Given the description of an element on the screen output the (x, y) to click on. 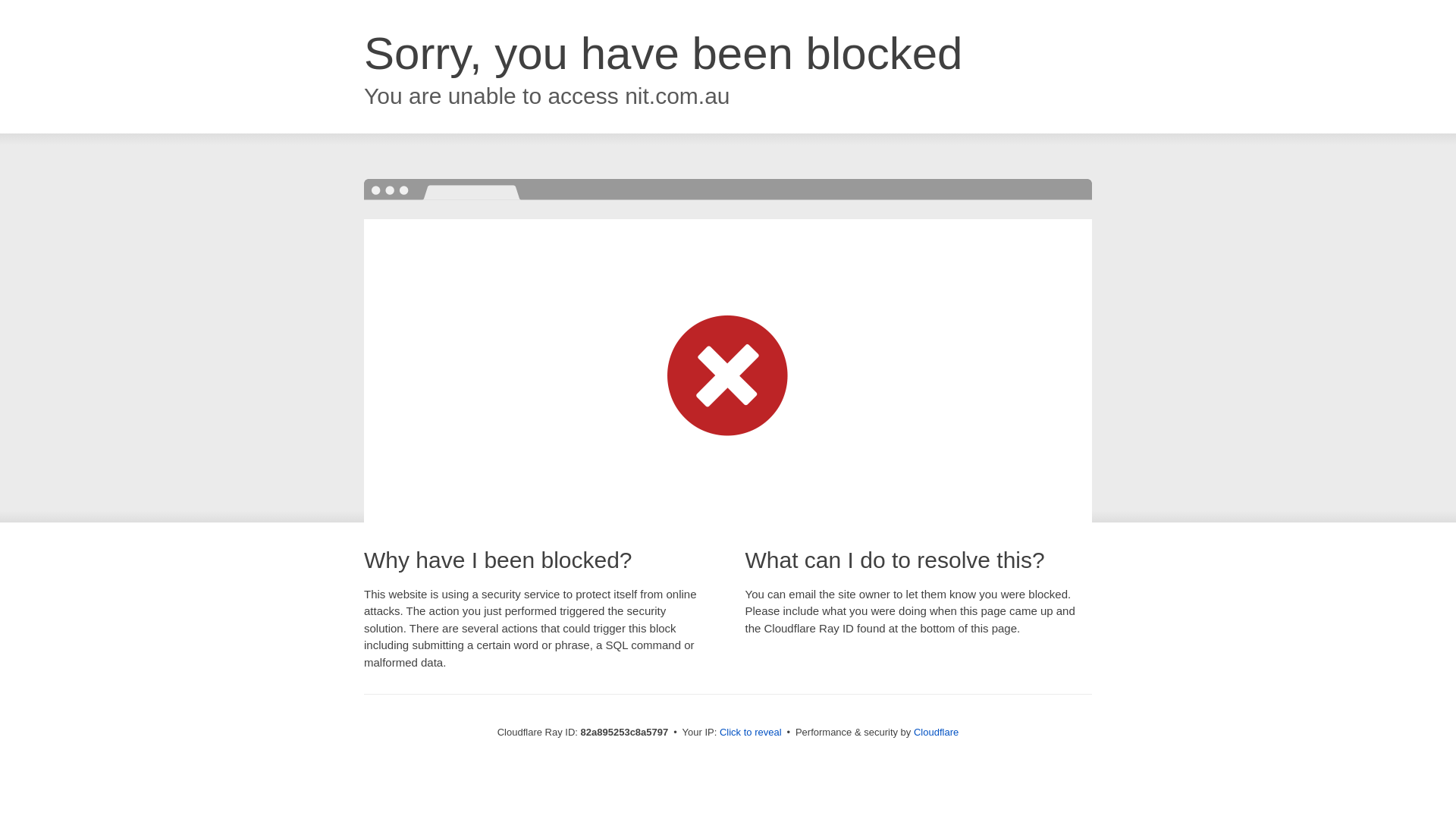
Cloudflare Element type: text (935, 731)
Click to reveal Element type: text (750, 732)
